Given the description of an element on the screen output the (x, y) to click on. 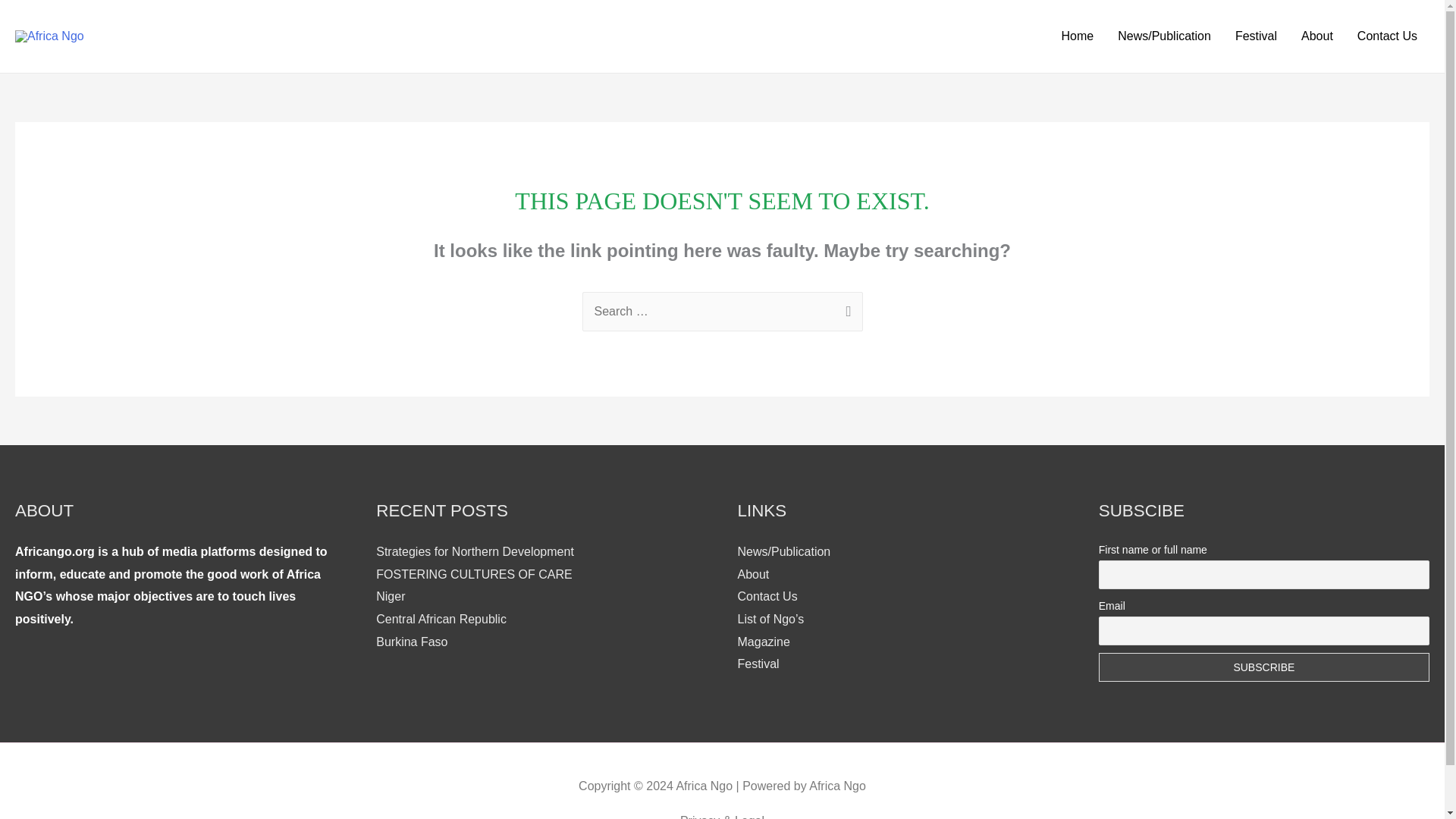
Central African Republic (440, 618)
Strategies for Northern Development (474, 551)
About (752, 574)
Magazine (762, 641)
Contact Us (1387, 36)
Subscribe (1264, 666)
Niger (389, 595)
Home (1077, 36)
Burkina Faso (410, 641)
About (1316, 36)
